Given the description of an element on the screen output the (x, y) to click on. 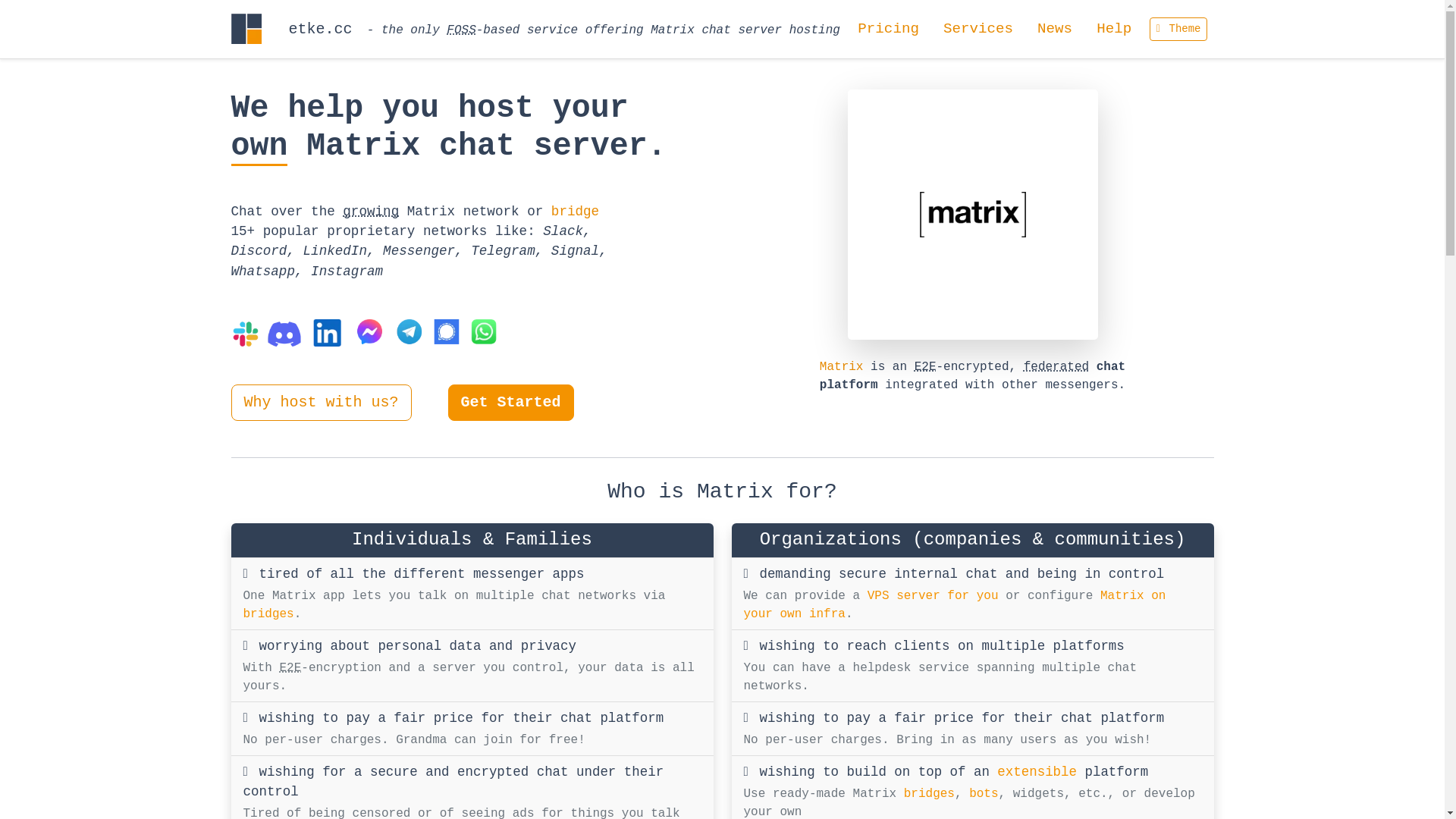
VPS server for you Element type: text (932, 595)
Services Element type: text (978, 29)
bridge Element type: text (575, 211)
Why host with us? Element type: text (320, 402)
Get Started Element type: text (511, 402)
Matrix Element type: text (841, 366)
bridges Element type: text (267, 614)
extensible Element type: text (1036, 771)
Pricing Element type: text (888, 29)
etke.cc logo Element type: hover (245, 28)
Matrix on your own infra Element type: text (954, 605)
News Element type: text (1054, 29)
Help Element type: text (1113, 29)
bridges Element type: text (928, 793)
bots Element type: text (983, 793)
  etke.cc Element type: text (290, 28)
